Given the description of an element on the screen output the (x, y) to click on. 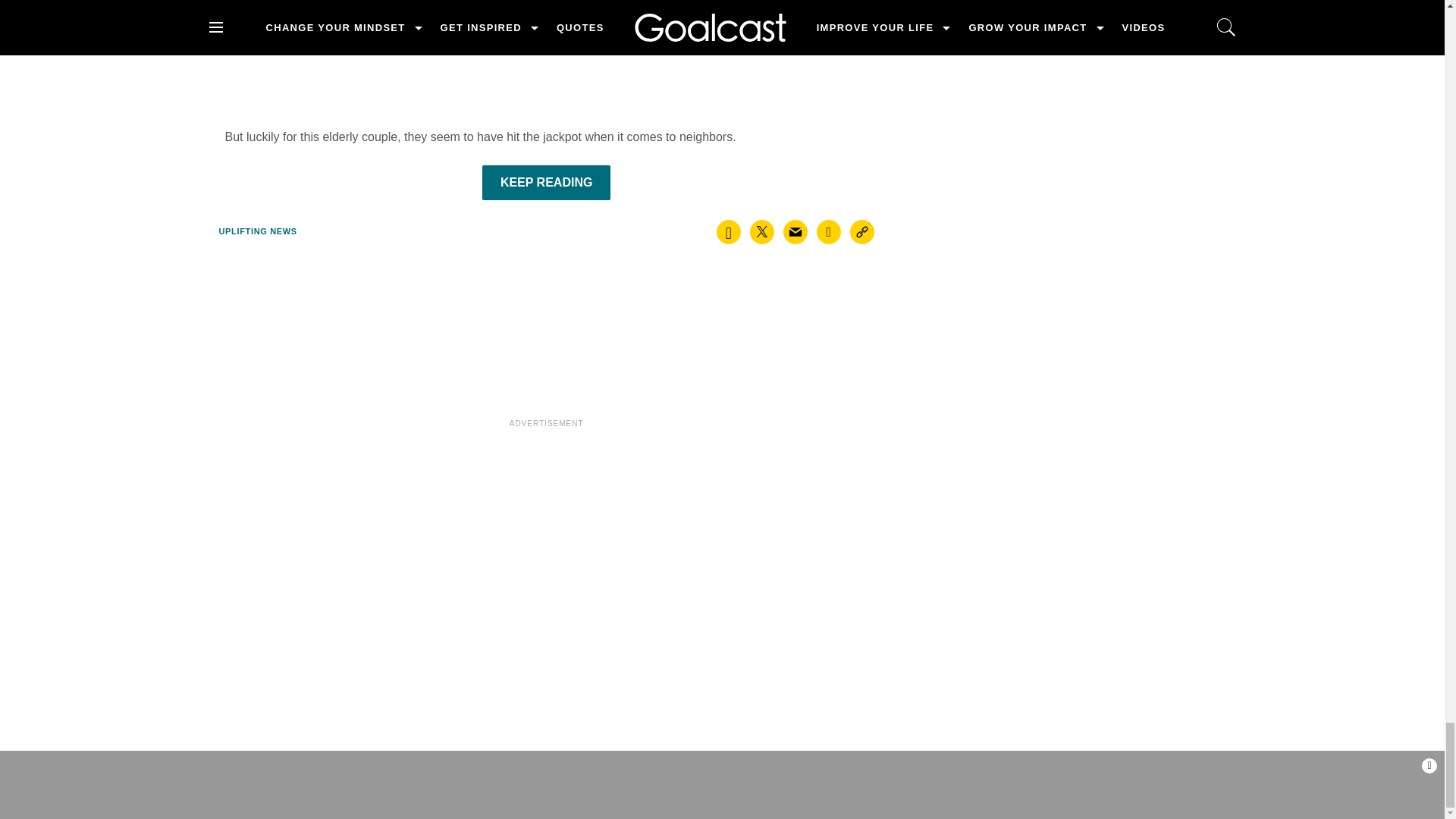
Copy this link to clipboard (862, 232)
